Given the description of an element on the screen output the (x, y) to click on. 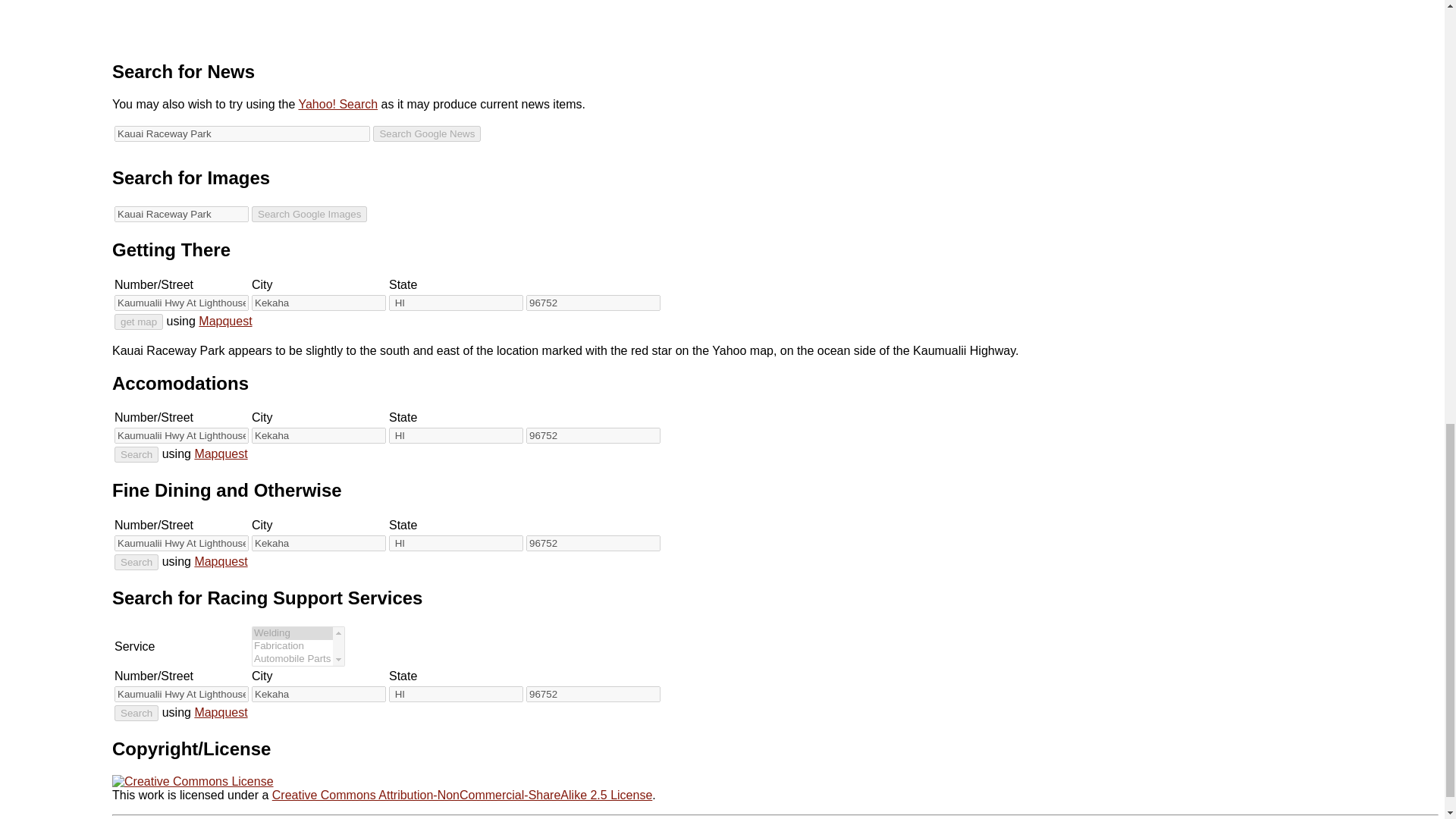
Kekaha (318, 302)
Kaumualii Hwy At Lighthouse Rd  (181, 543)
Yahoo! Search (337, 103)
get map (139, 321)
Search for News (183, 71)
 HI (455, 543)
Search (136, 454)
Search (136, 562)
96752 (593, 302)
Kekaha (318, 435)
Kaumualii Hwy At Lighthouse Rd  (181, 435)
96752 (593, 435)
96752 (593, 543)
 HI (455, 302)
Search Google News (426, 133)
